Given the description of an element on the screen output the (x, y) to click on. 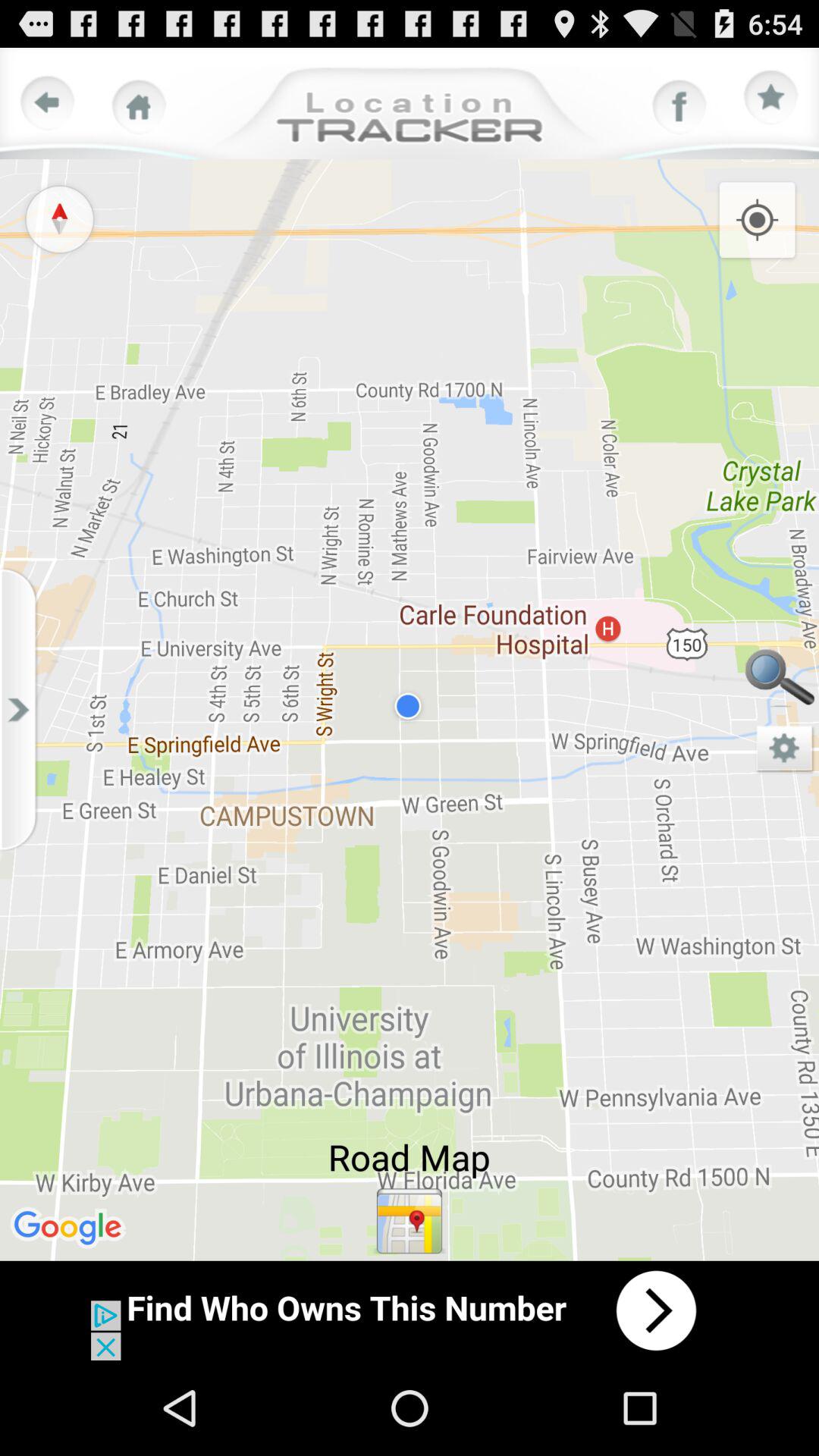
setting in privacy (785, 749)
